Given the description of an element on the screen output the (x, y) to click on. 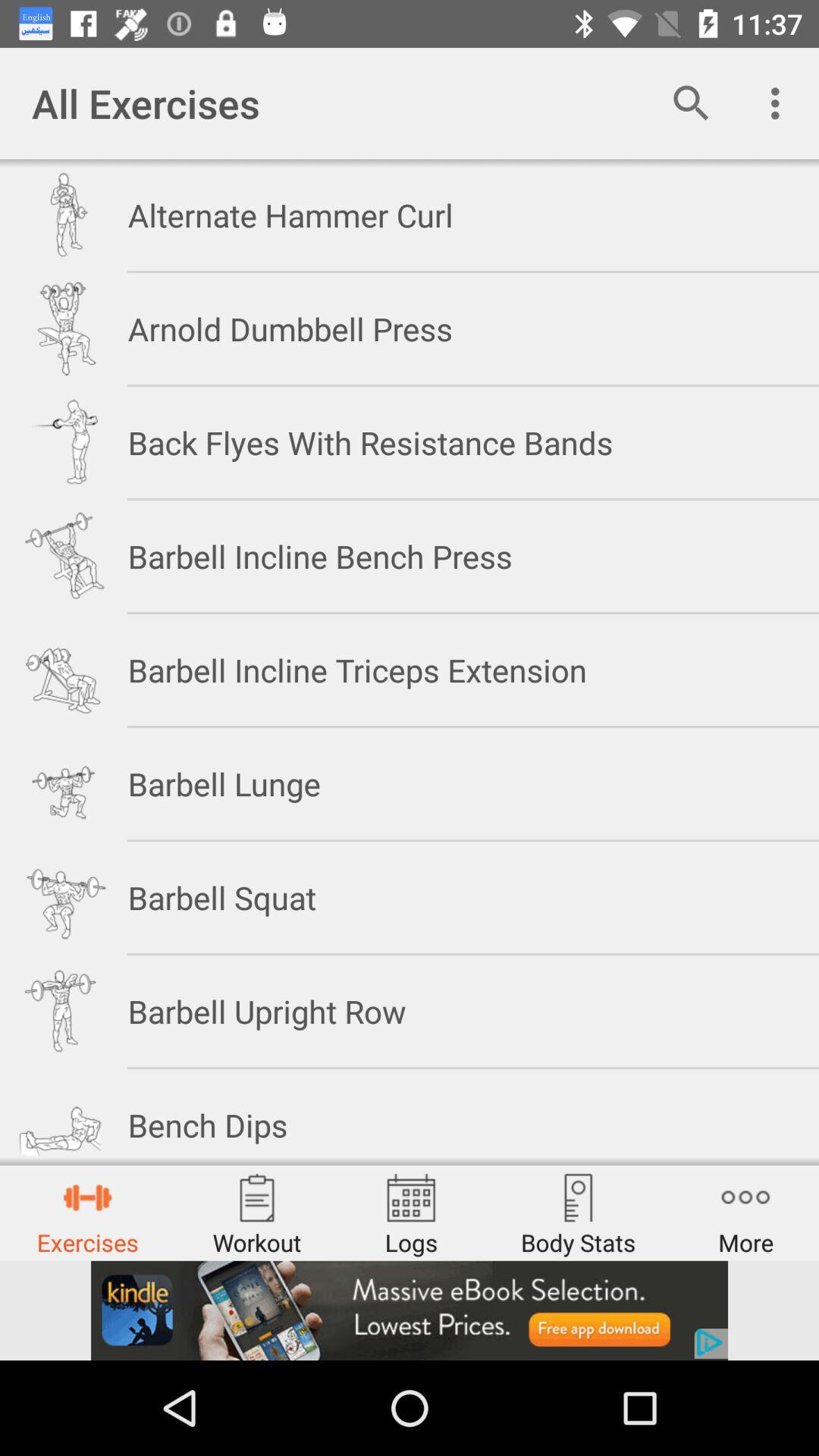
know about the advertisement (409, 1310)
